Given the description of an element on the screen output the (x, y) to click on. 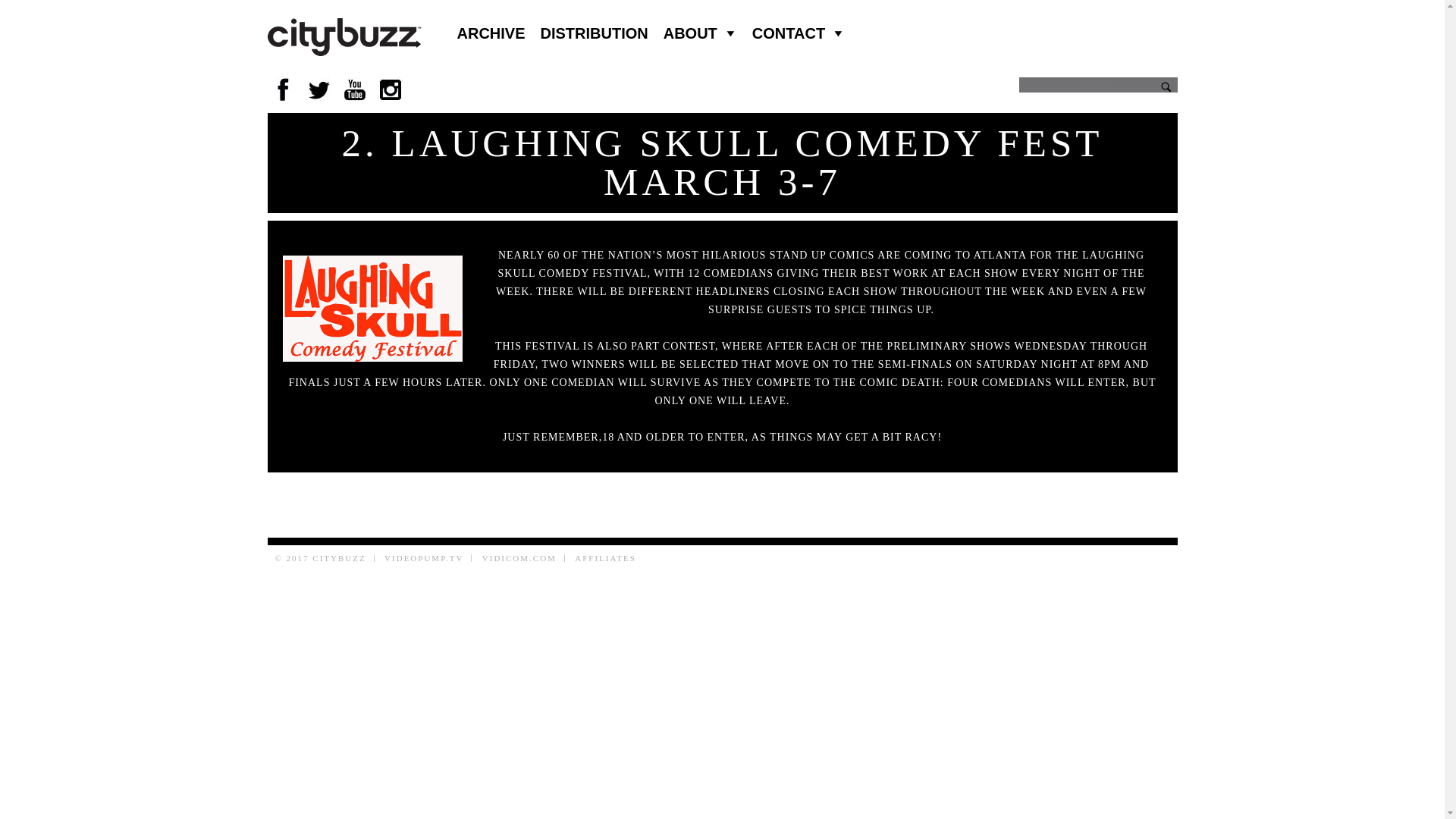
Picture 13 (371, 308)
VIDEOPUMP.TV (423, 557)
VIDICOM.COM (518, 557)
ARCHIVE (490, 33)
DISTRIBUTION (594, 33)
AFFILIATES (605, 557)
CONTACT (797, 33)
ABOUT (700, 33)
